Given the description of an element on the screen output the (x, y) to click on. 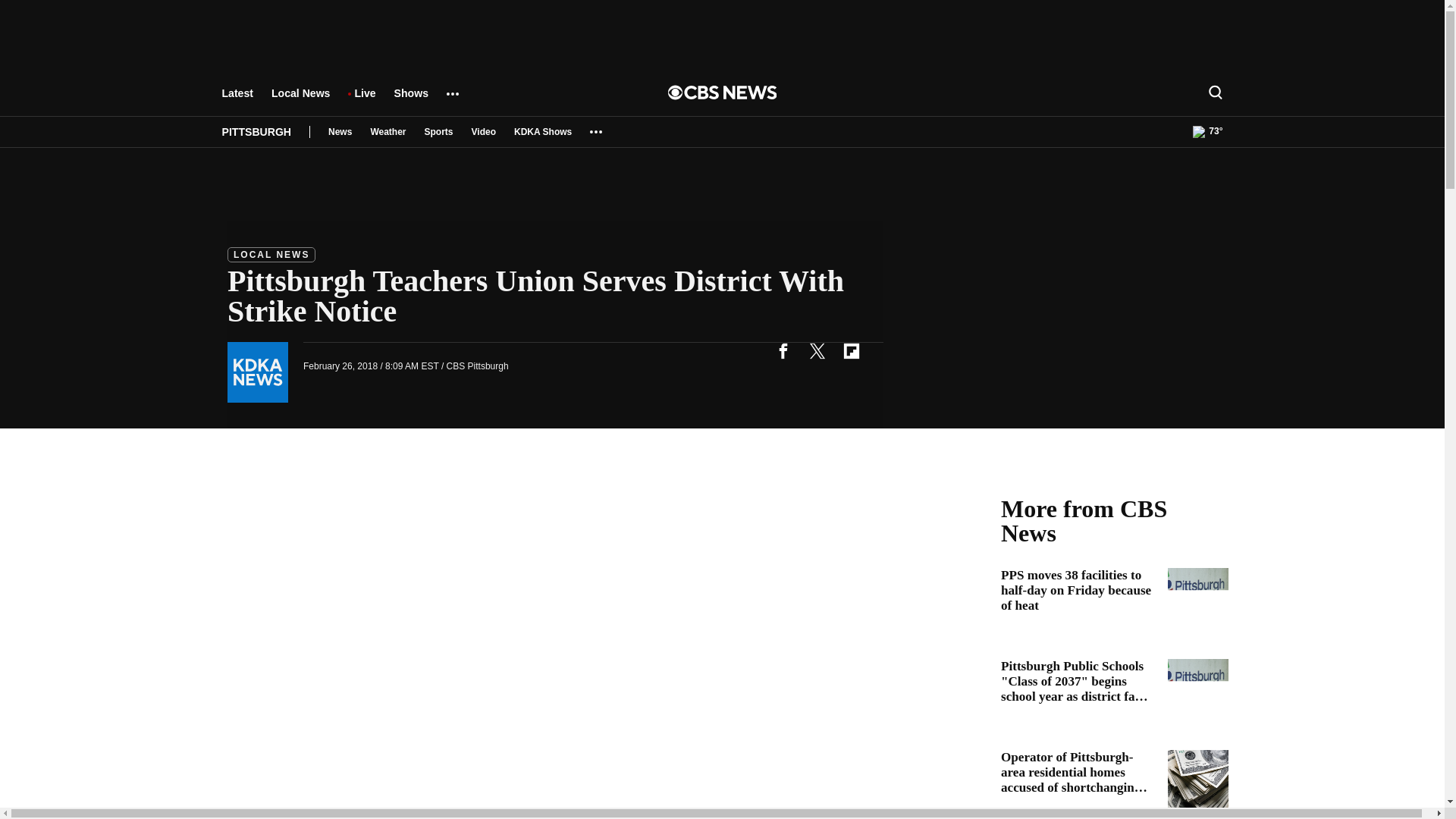
Local News (300, 100)
flipboard (850, 350)
Latest (236, 100)
facebook (782, 350)
twitter (816, 350)
